Given the description of an element on the screen output the (x, y) to click on. 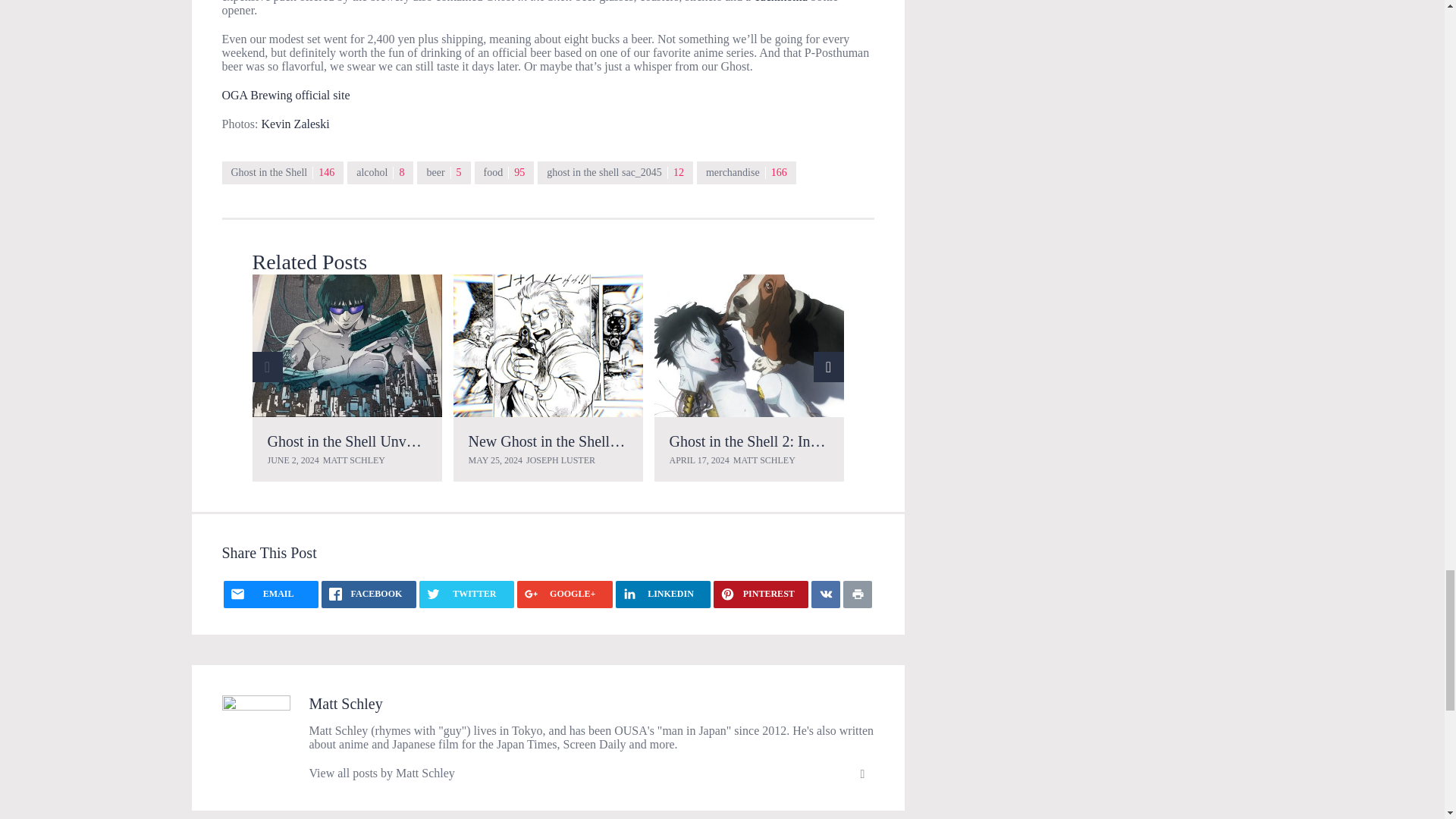
Ghost in the Shell Unveils Ukiyo-e Woodblock Prints (346, 345)
Ghost in the Shell Unveils Ukiyo-e Woodblock Prints (429, 441)
OGA Brewing official site (285, 94)
Tachikoma (781, 1)
Ghost in the Shell 146 (282, 172)
Kevin Zaleski (296, 123)
